Given the description of an element on the screen output the (x, y) to click on. 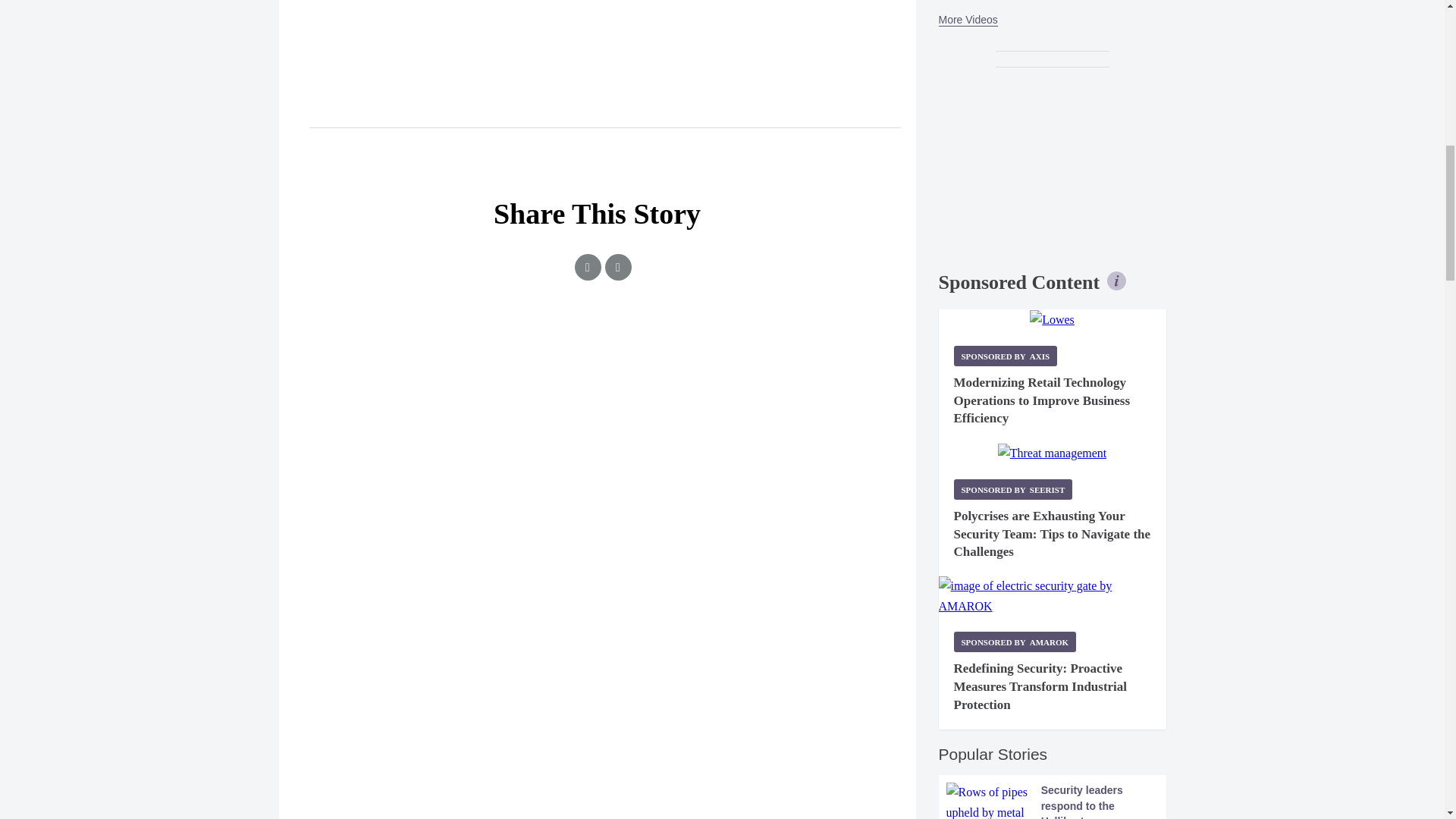
Sponsored by Seerist (1013, 489)
Threat management (1051, 453)
AMAROK Security Gate (1052, 596)
Sponsored by Axis (1005, 355)
Sponsored by AMAROK (1015, 641)
Security leaders respond to the Halliburton cyberattack (1052, 800)
Lowes (1051, 320)
